Given the description of an element on the screen output the (x, y) to click on. 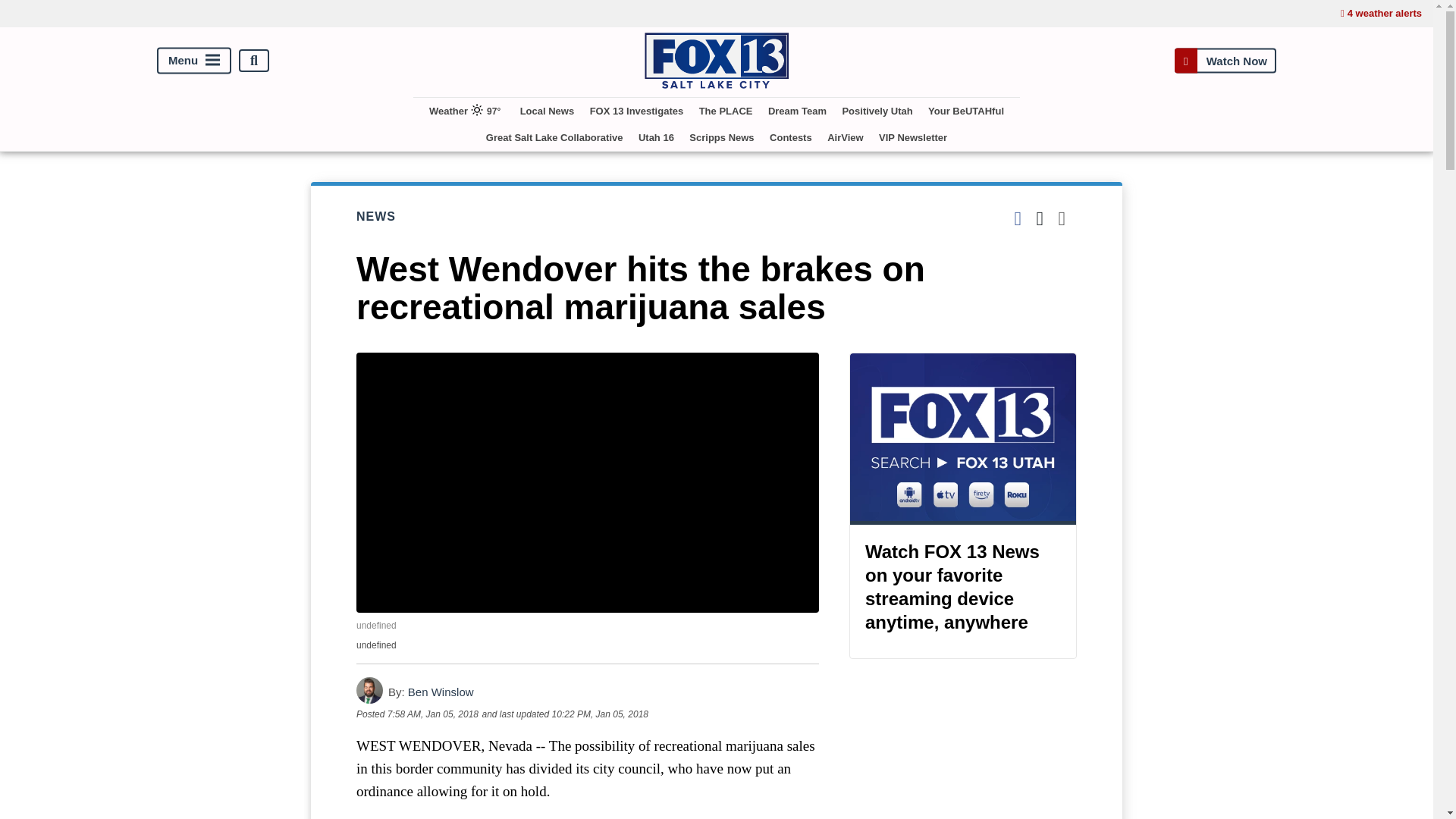
Menu (194, 60)
Watch Now (1224, 60)
